Given the description of an element on the screen output the (x, y) to click on. 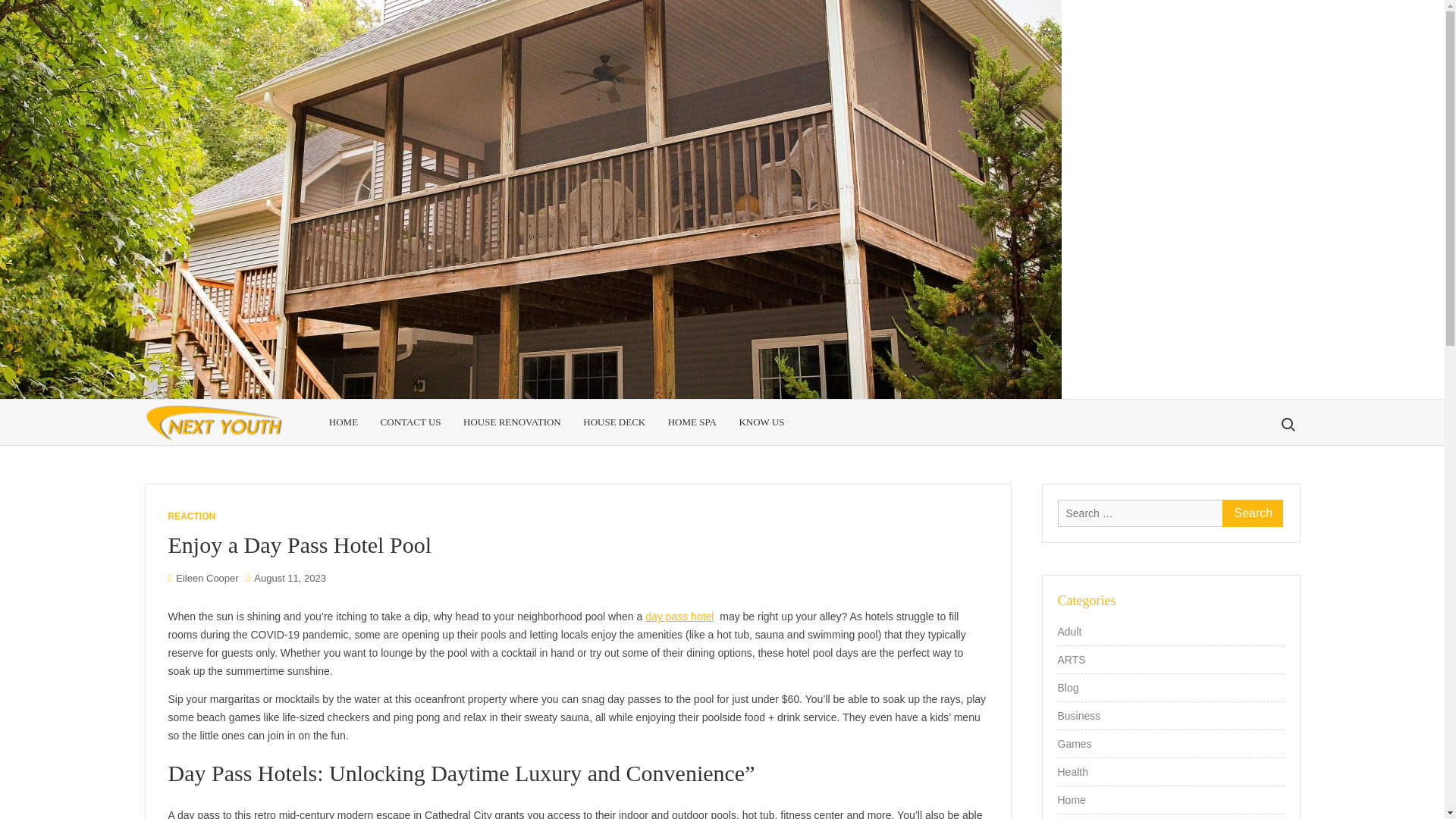
Blog (1067, 687)
Adult (1069, 631)
Business (1078, 714)
ARTS (1070, 659)
Next Youth (323, 448)
HOME (343, 422)
Search (1252, 513)
CONTACT US (410, 422)
KNOW US (760, 422)
Home (1070, 799)
